Given the description of an element on the screen output the (x, y) to click on. 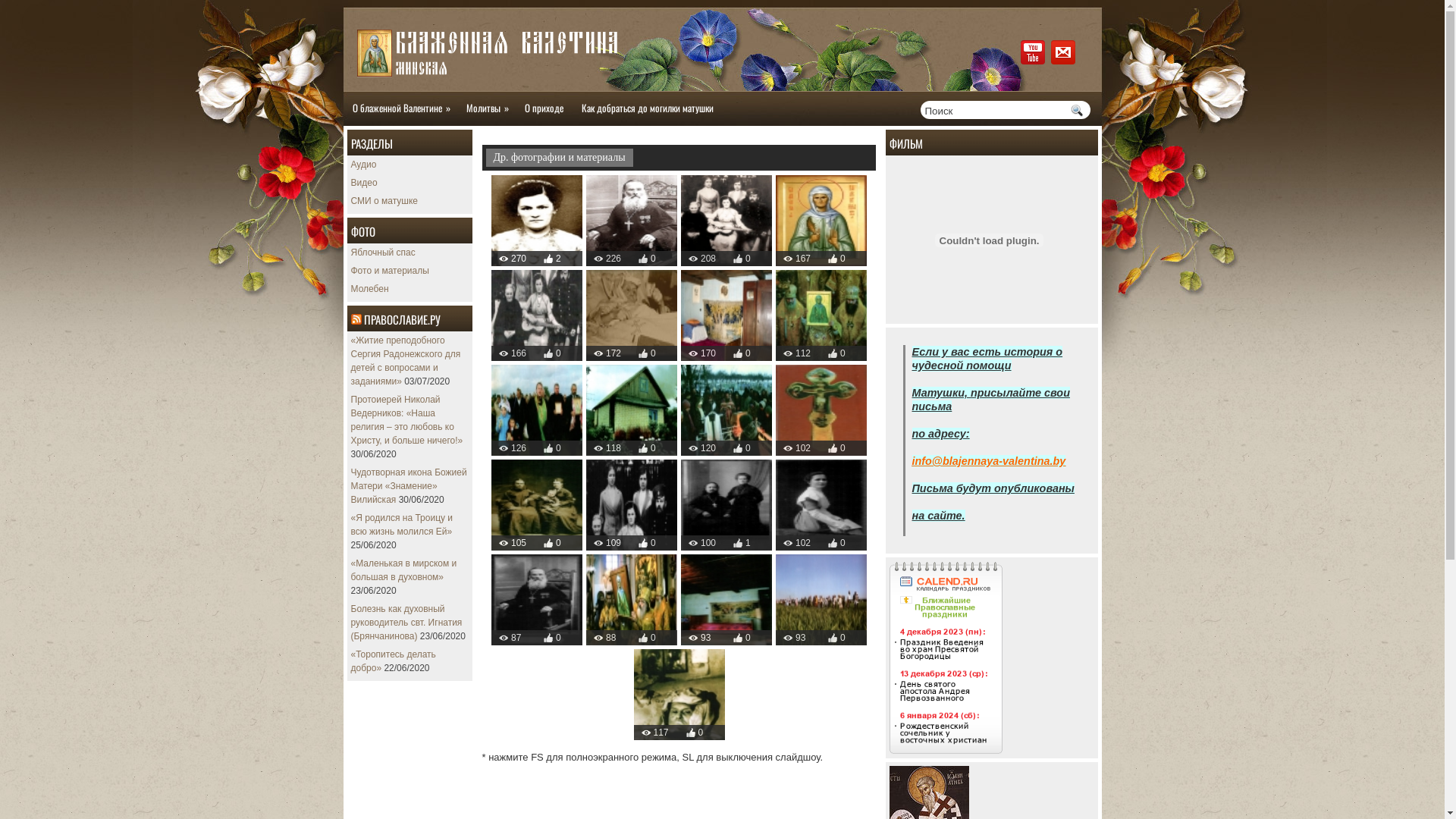
208
0 Element type: text (726, 220)
100
1 Element type: text (726, 505)
105
0 Element type: text (536, 505)
109
0 Element type: text (631, 505)
117
0 Element type: text (679, 694)
226
0 Element type: text (631, 220)
112
0 Element type: text (821, 315)
167
0 Element type: text (821, 220)
87
0 Element type: text (536, 599)
YouTube Element type: hover (1032, 52)
93
0 Element type: text (821, 599)
270
2 Element type: text (536, 220)
YouTube Element type: hover (1034, 61)
102
0 Element type: text (821, 410)
88
0 Element type: text (631, 599)
166
0 Element type: text (536, 315)
126
0 Element type: text (536, 410)
eMail Element type: hover (1064, 61)
93
0 Element type: text (726, 599)
102
0 Element type: text (821, 505)
170
0 Element type: text (726, 315)
120
0 Element type: text (726, 410)
eMail Element type: hover (1063, 52)
118
0 Element type: text (631, 410)
172
0 Element type: text (631, 315)
